Given the description of an element on the screen output the (x, y) to click on. 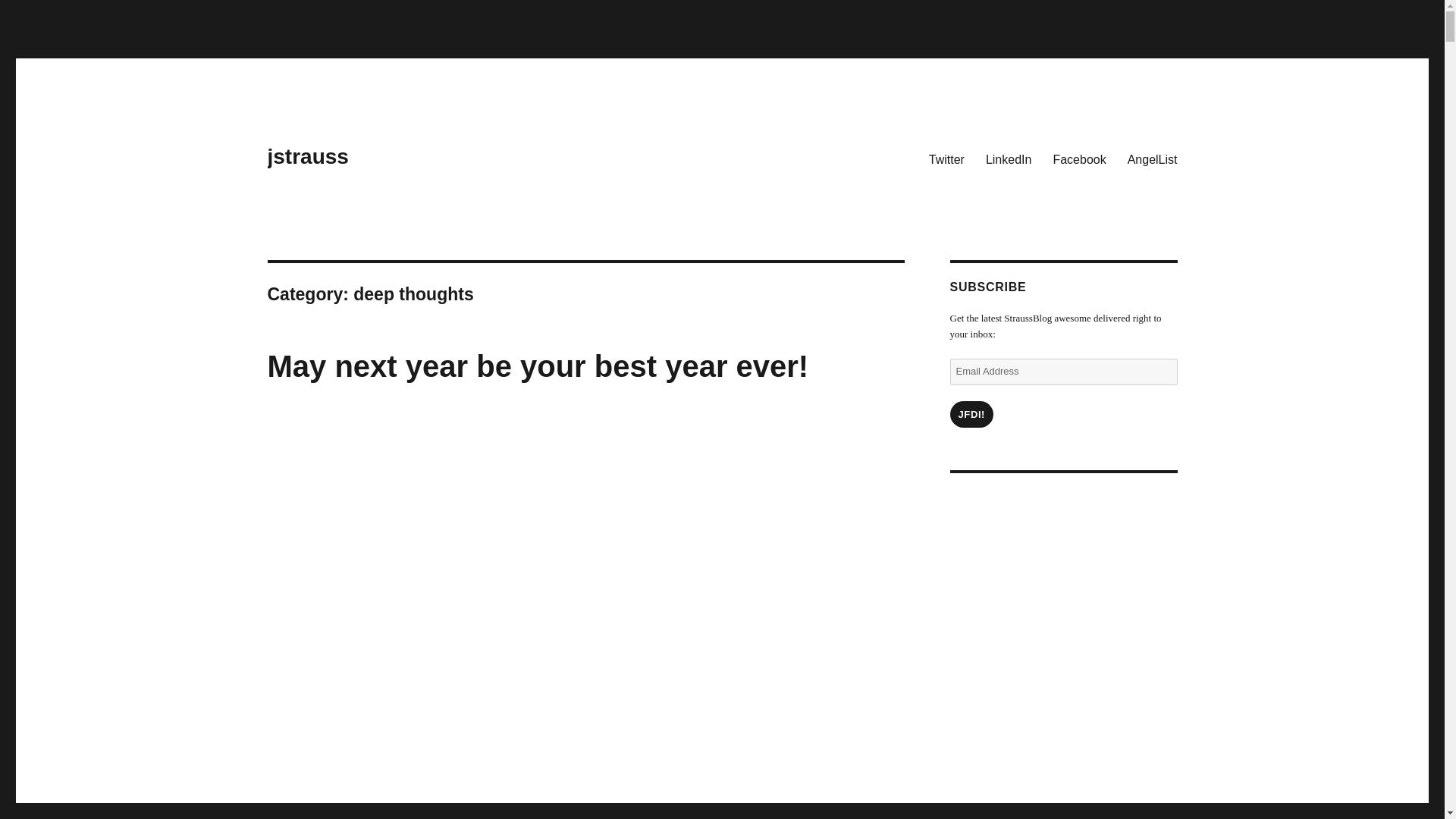
Facebook (1079, 159)
jstrauss (306, 156)
LinkedIn (1008, 159)
Twitter (946, 159)
May next year be your best year ever! (537, 366)
AngelList (1152, 159)
